Given the description of an element on the screen output the (x, y) to click on. 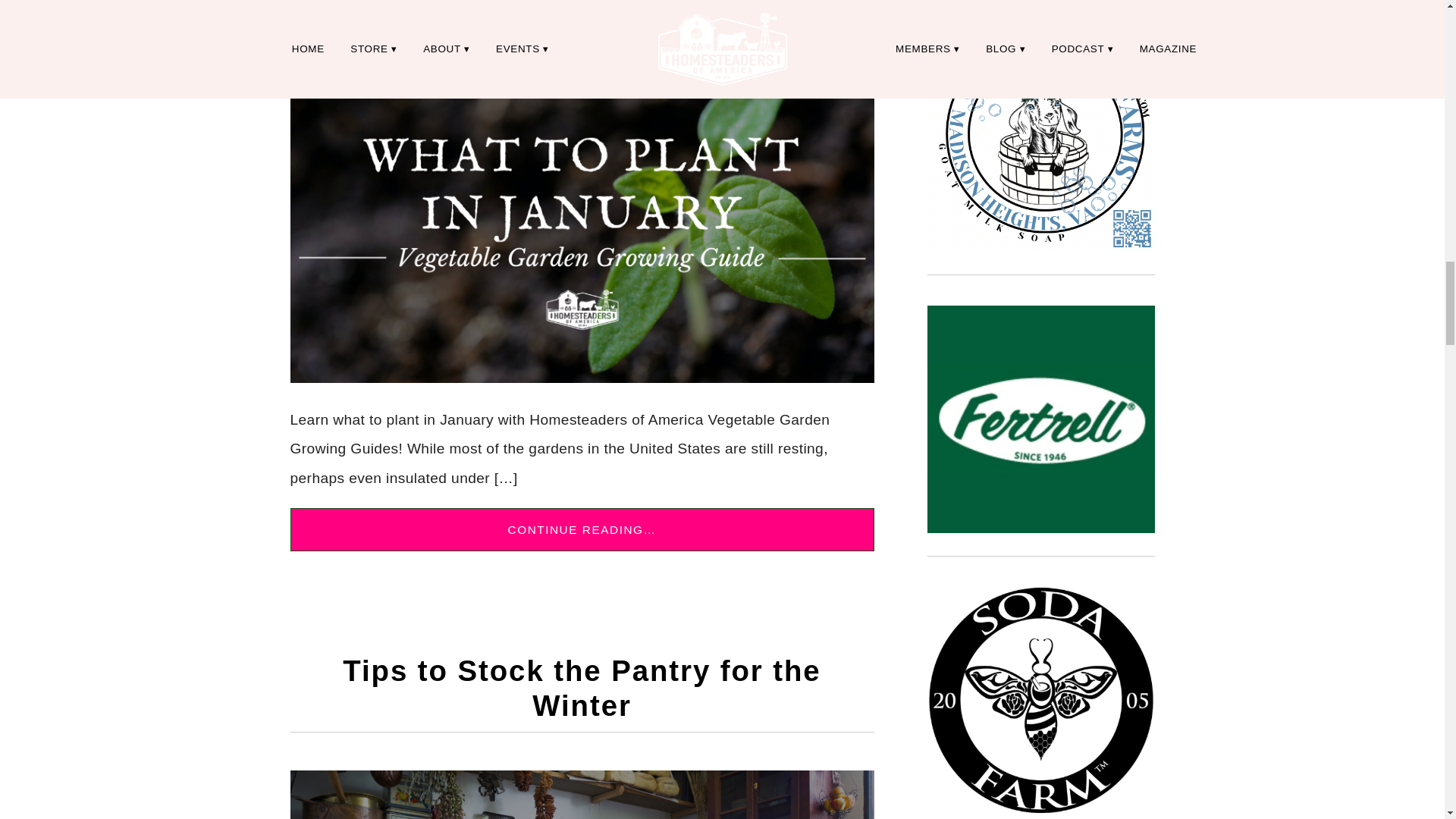
Tips to Stock the Pantry for the Winter (581, 687)
What to Plant in January: Vegetable Garden Growing Guide (582, 5)
